Given the description of an element on the screen output the (x, y) to click on. 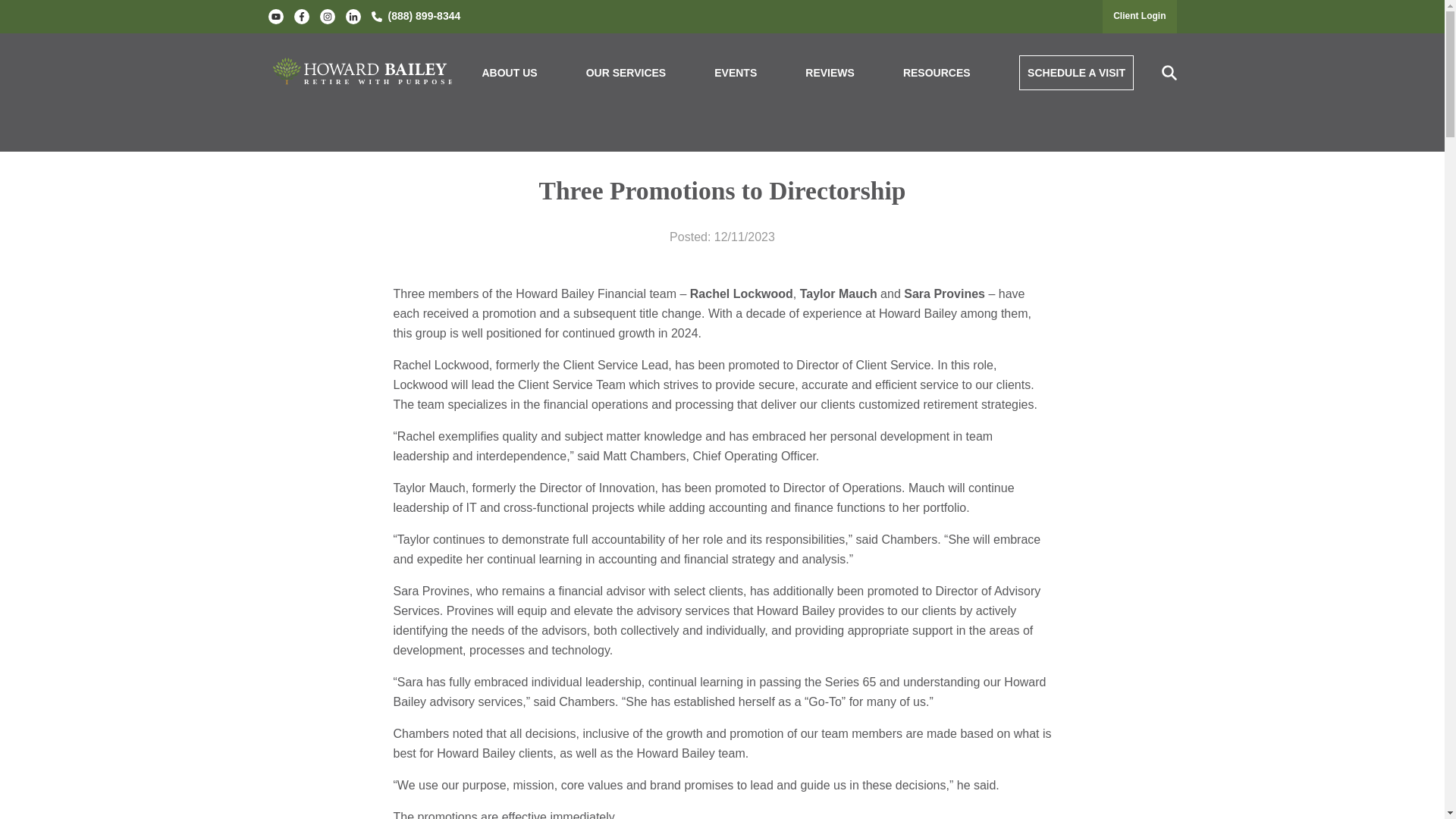
RESOURCES (936, 72)
EVENTS (735, 72)
SCHEDULE A VISIT (1077, 72)
ABOUT US (509, 72)
Client Login (1139, 16)
OUR SERVICES (626, 72)
REVIEWS (829, 72)
